Given the description of an element on the screen output the (x, y) to click on. 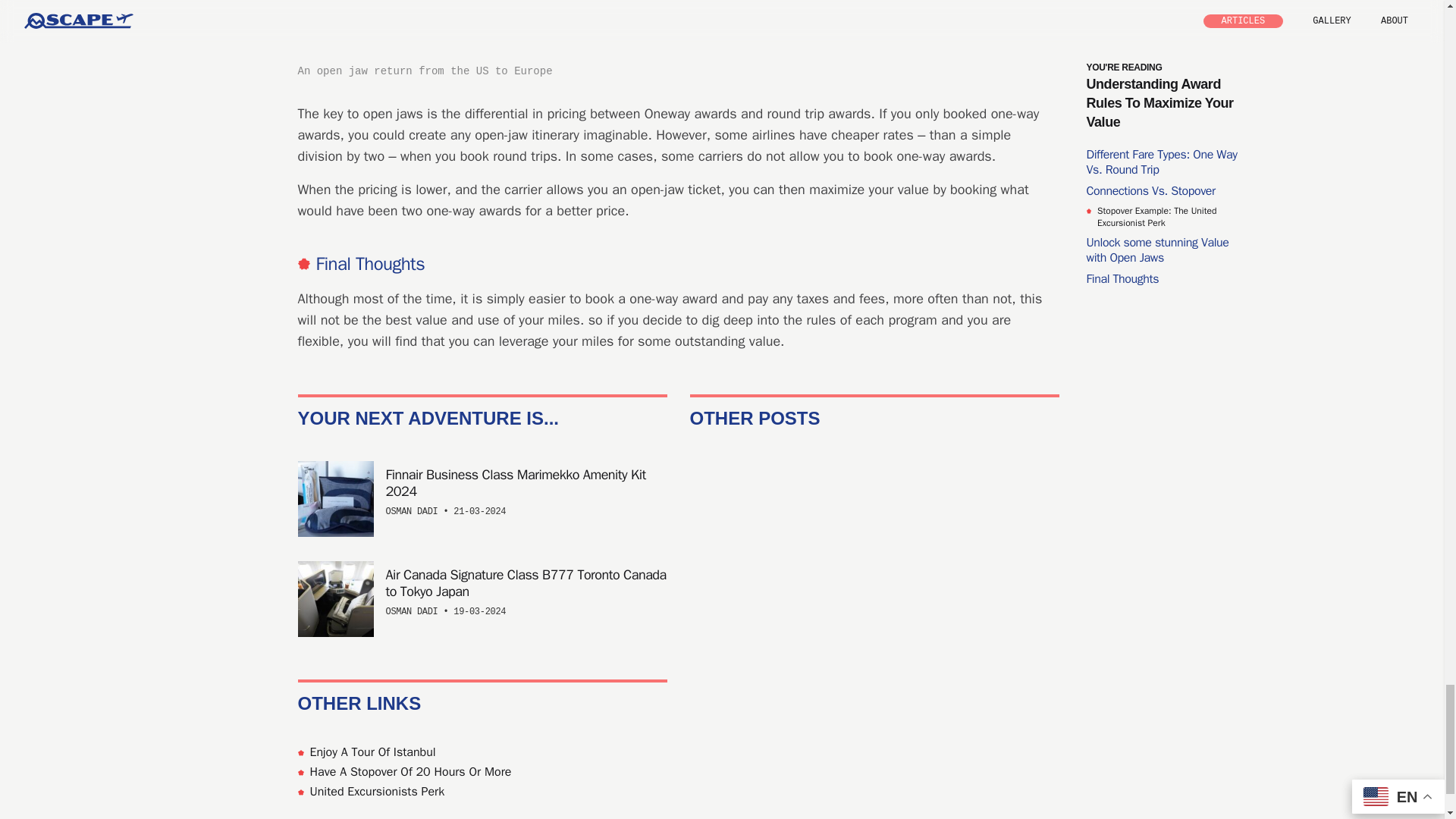
United Excursionists Perk (481, 791)
Have A Stopover Of 20 Hours Or More (481, 771)
Enjoy A Tour Of Istanbul (481, 752)
